Given the description of an element on the screen output the (x, y) to click on. 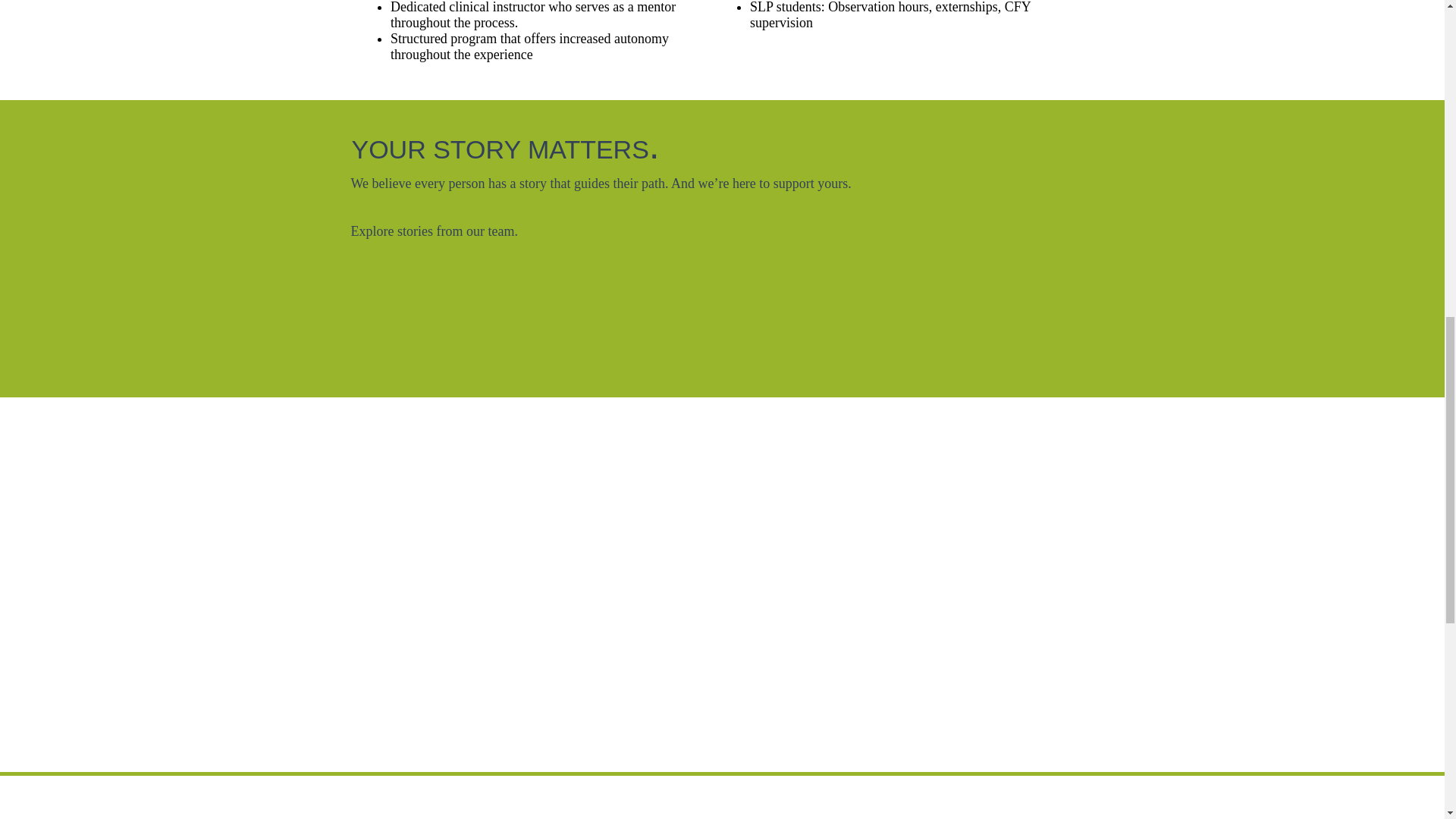
Explore stories from our team. (433, 231)
